Given the description of an element on the screen output the (x, y) to click on. 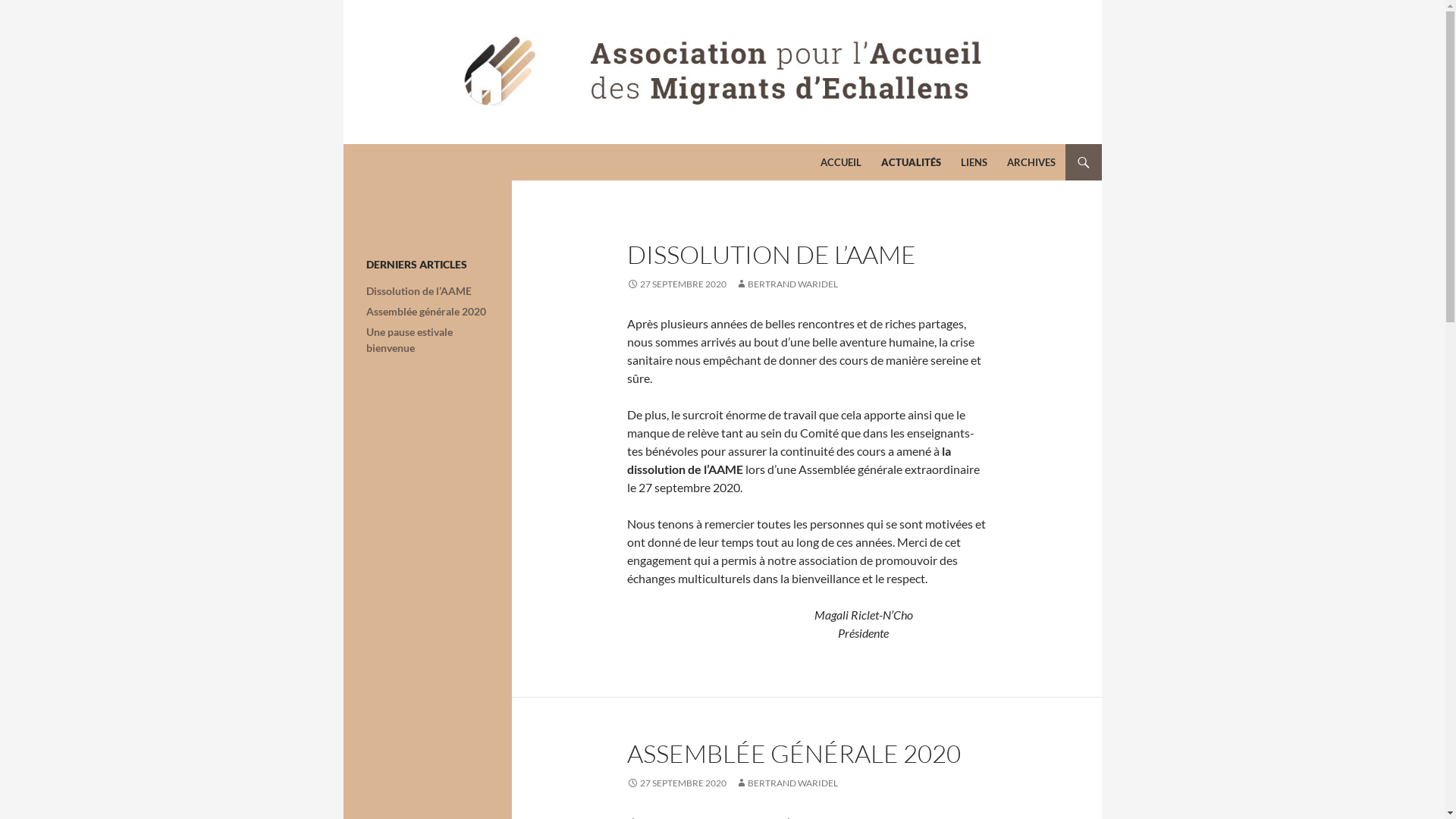
ARCHIVES Element type: text (1030, 162)
Une pause estivale bienvenue Element type: text (408, 339)
27 SEPTEMBRE 2020 Element type: text (675, 283)
ACCUEIL Element type: text (840, 162)
LIENS Element type: text (972, 162)
BERTRAND WARIDEL Element type: text (786, 283)
Recherche Element type: text (347, 144)
BERTRAND WARIDEL Element type: text (786, 782)
27 SEPTEMBRE 2020 Element type: text (675, 782)
AAME Element type: text (385, 162)
ALLER AU CONTENU Element type: text (820, 144)
